Given the description of an element on the screen output the (x, y) to click on. 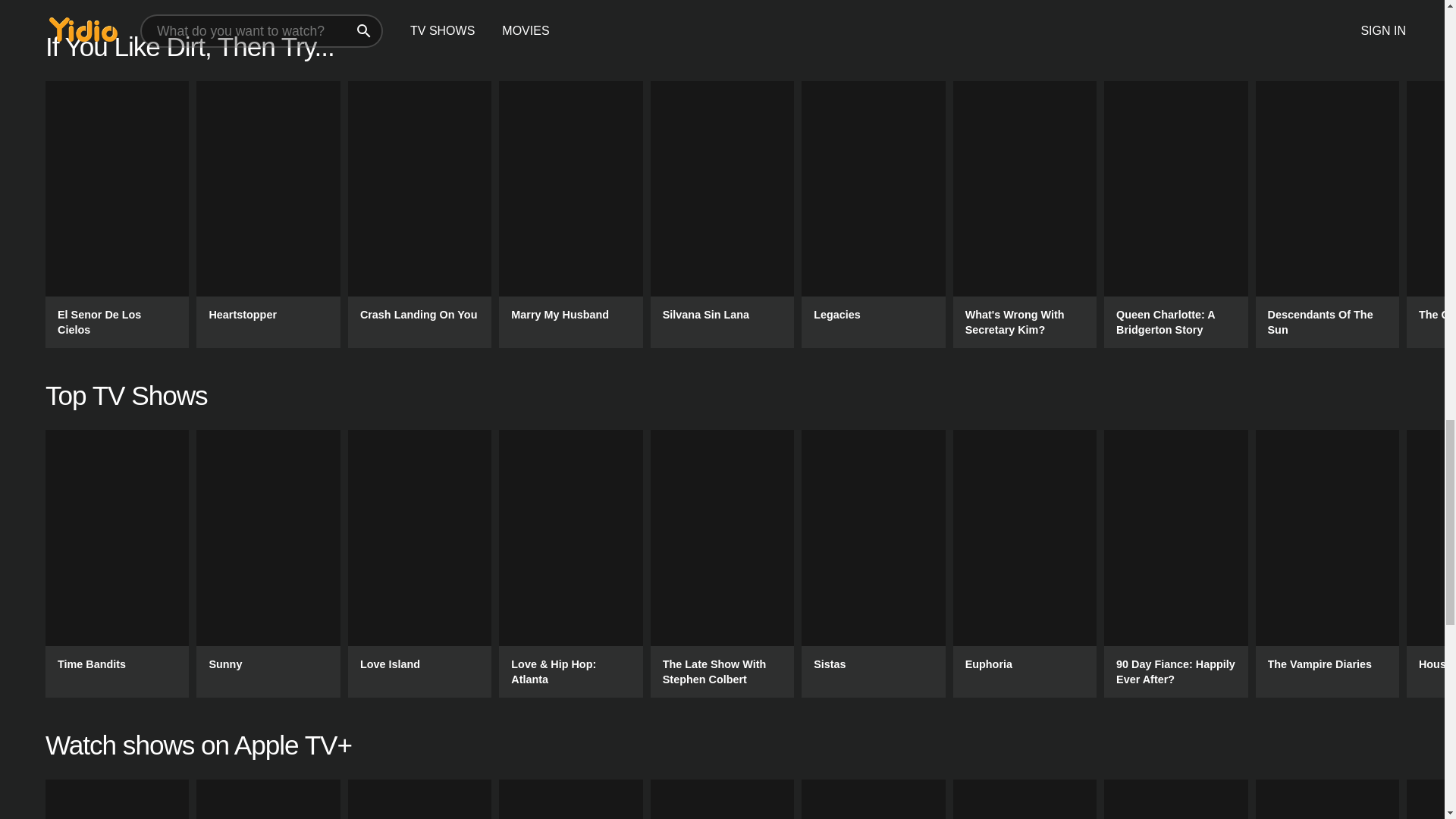
Slow Horses (721, 799)
Ted Lasso (873, 799)
Cowboy Cartel (267, 799)
Lady In The Lake (570, 799)
Presumed Innocent (419, 799)
Hijack (1327, 799)
Swagger (1024, 799)
Bad Monkey (117, 799)
SEE (1175, 799)
